Given the description of an element on the screen output the (x, y) to click on. 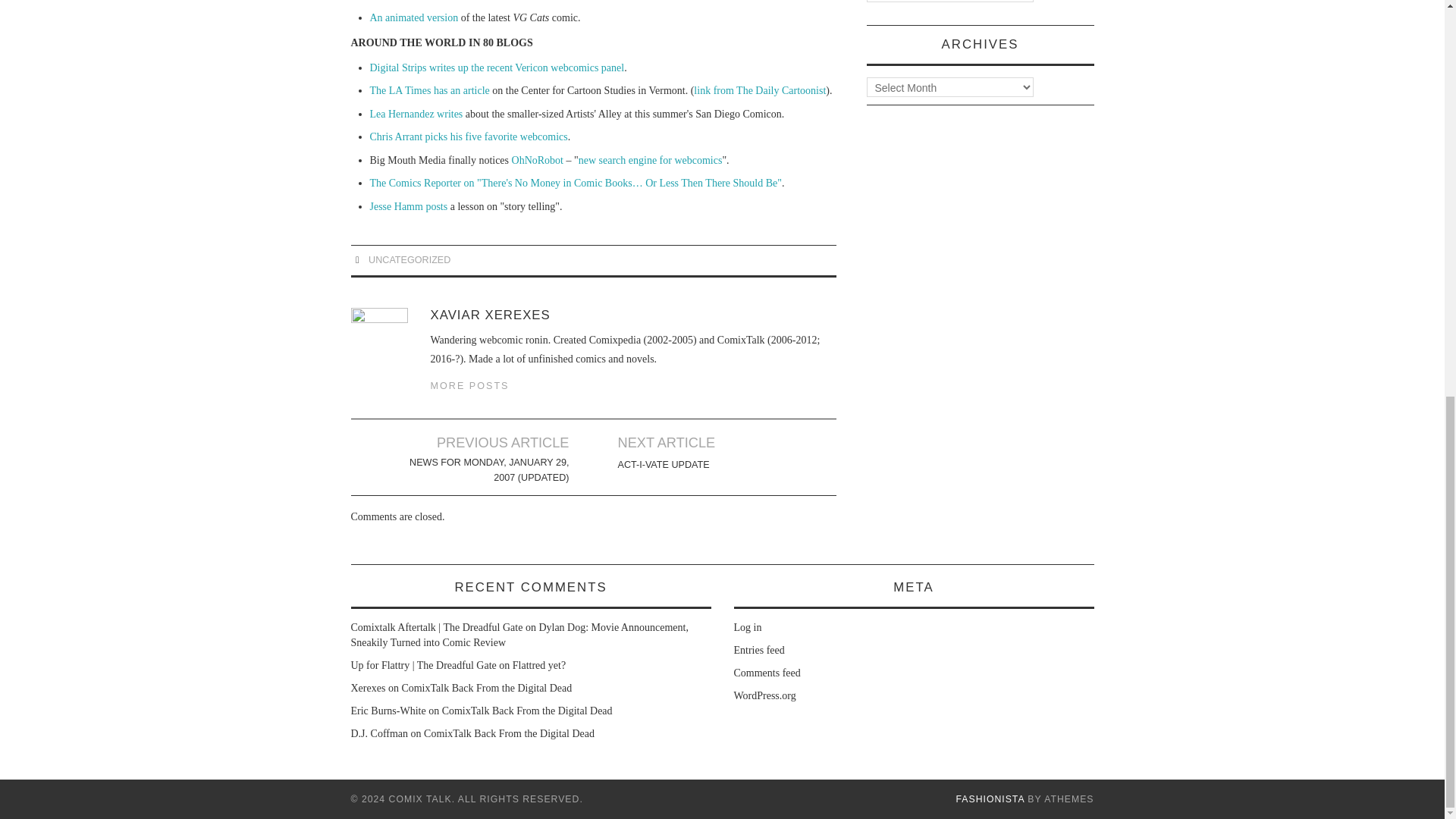
link from The Daily Cartoonist (759, 90)
An animated version (413, 17)
The LA Times has an article (429, 90)
Chris Arrant picks his five favorite webcomics (468, 136)
Lea Hernandez writes (416, 113)
Digital Strips writes up the recent Vericon webcomics panel (496, 67)
OhNoRobot (537, 160)
